Given the description of an element on the screen output the (x, y) to click on. 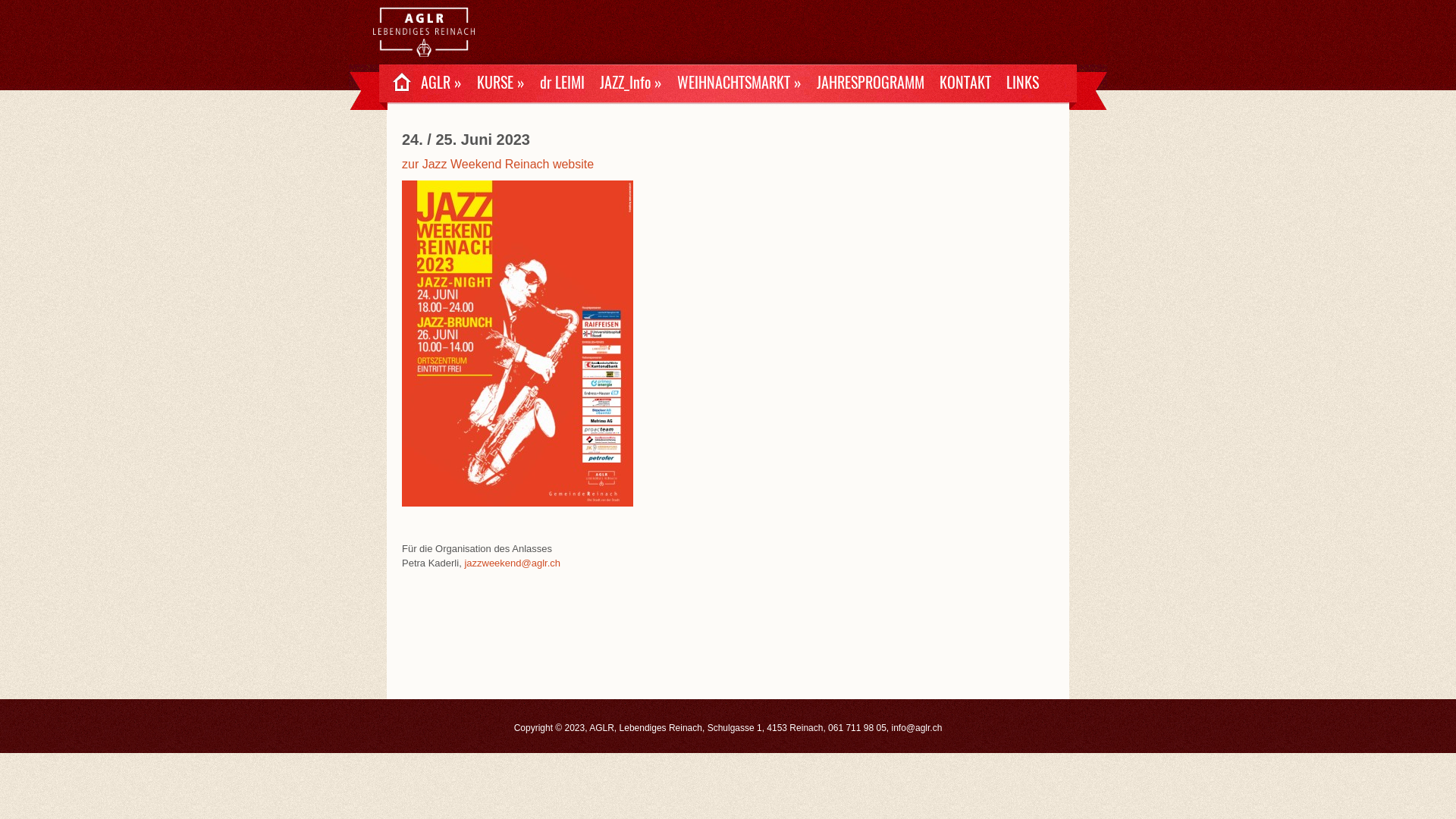
JAHRESPROGRAMM Element type: text (870, 82)
Home Element type: hover (396, 83)
zur Jazz Weekend Reinach website Element type: text (497, 164)
dr LEIMI Element type: text (562, 82)
Startseite Element type: hover (415, 52)
KONTAKT Element type: text (964, 82)
LINKS Element type: text (1022, 82)
jazzweekend@aglr.ch Element type: text (512, 562)
